Given the description of an element on the screen output the (x, y) to click on. 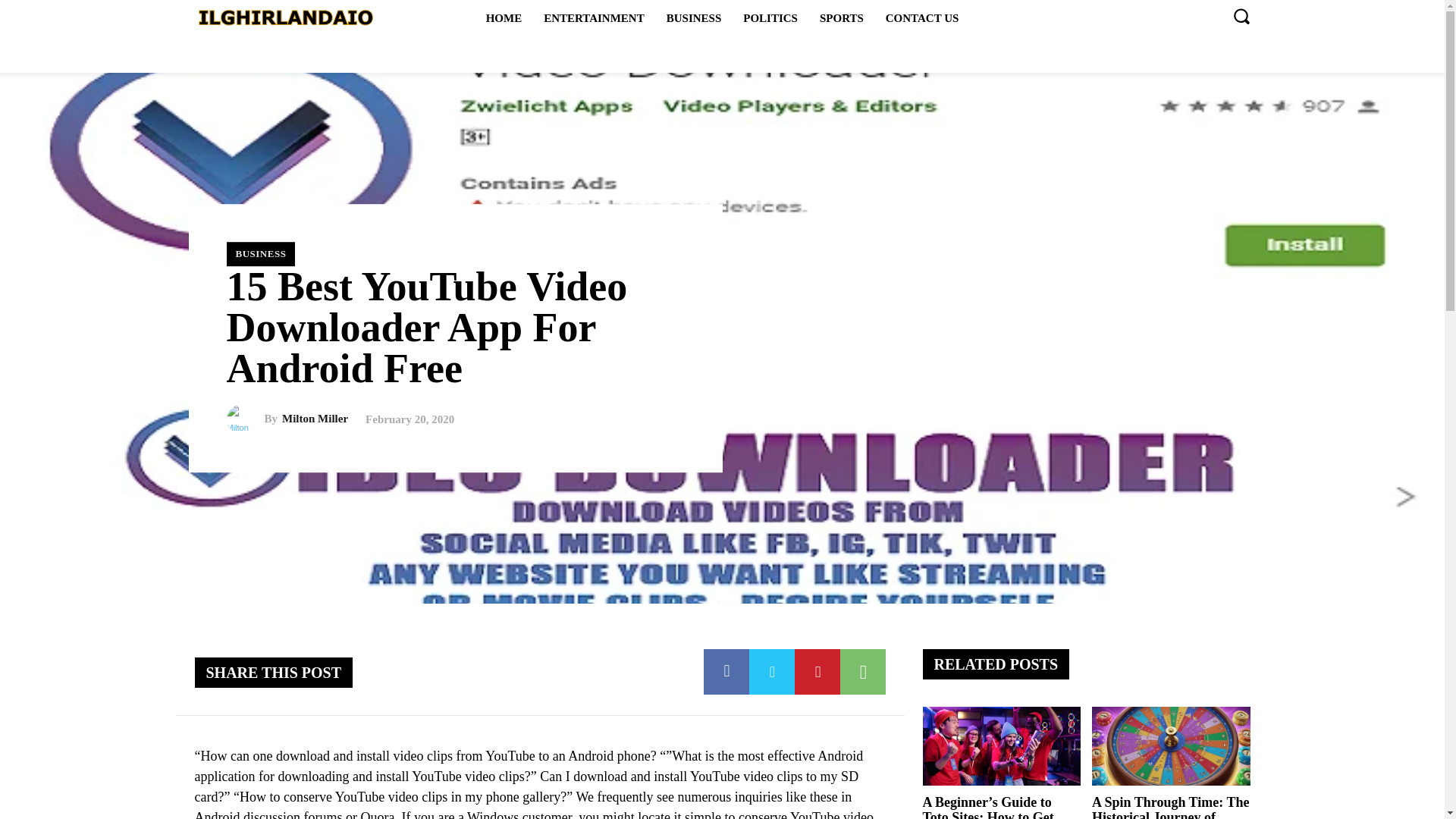
Twitter (771, 671)
CONTACT US (922, 17)
Milton Miller (244, 419)
BUSINESS (260, 253)
SPORTS (841, 17)
POLITICS (769, 17)
Milton Miller (314, 419)
Facebook (726, 671)
HOME (504, 17)
